Given the description of an element on the screen output the (x, y) to click on. 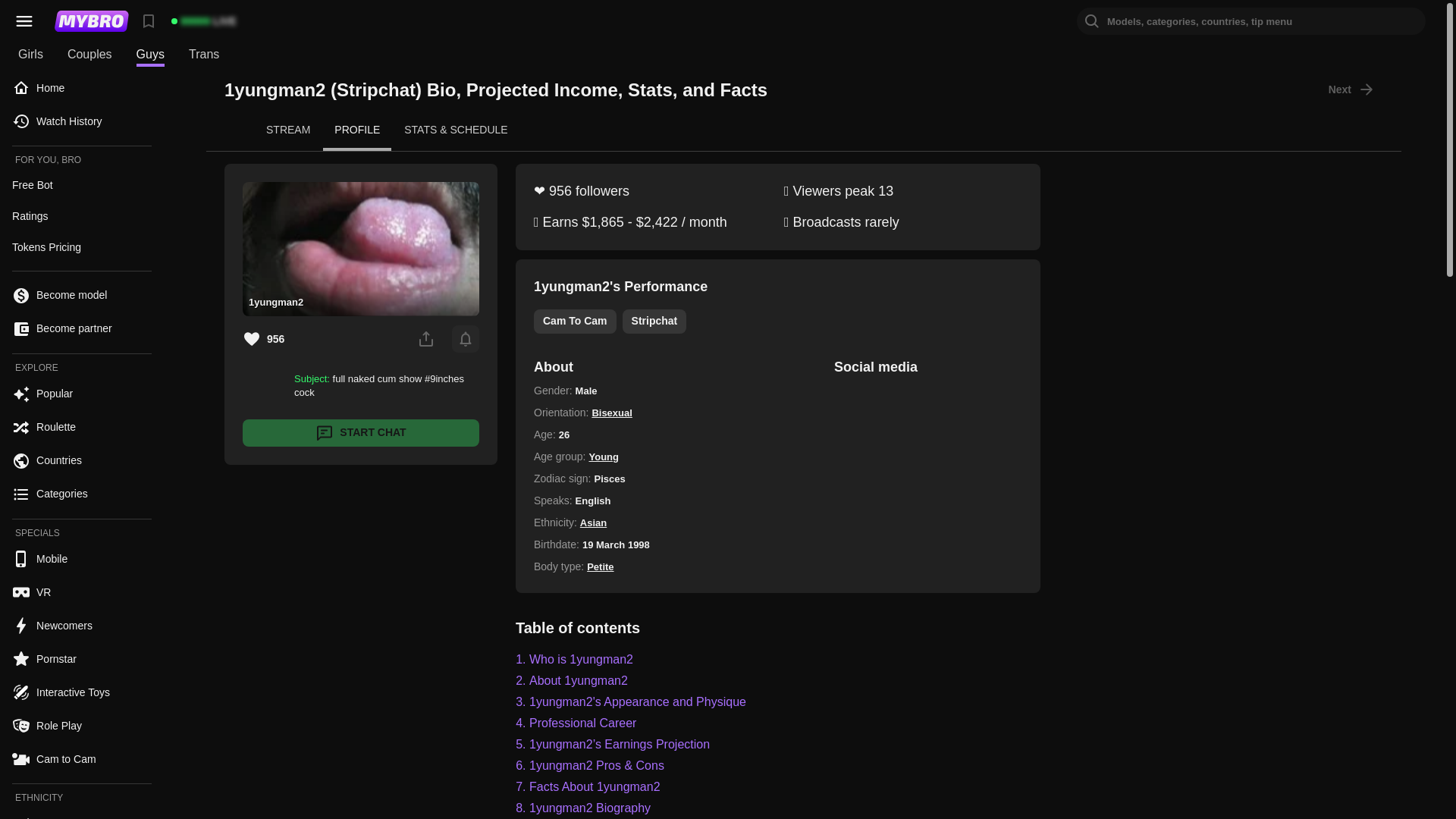
Categories (81, 494)
Guys (150, 54)
Popular (81, 394)
Countries (81, 460)
Newcomers (81, 625)
Free Bot (81, 185)
Tokens Pricing (81, 247)
Ratings (81, 216)
Become partner (81, 328)
Mobile (81, 558)
